Given the description of an element on the screen output the (x, y) to click on. 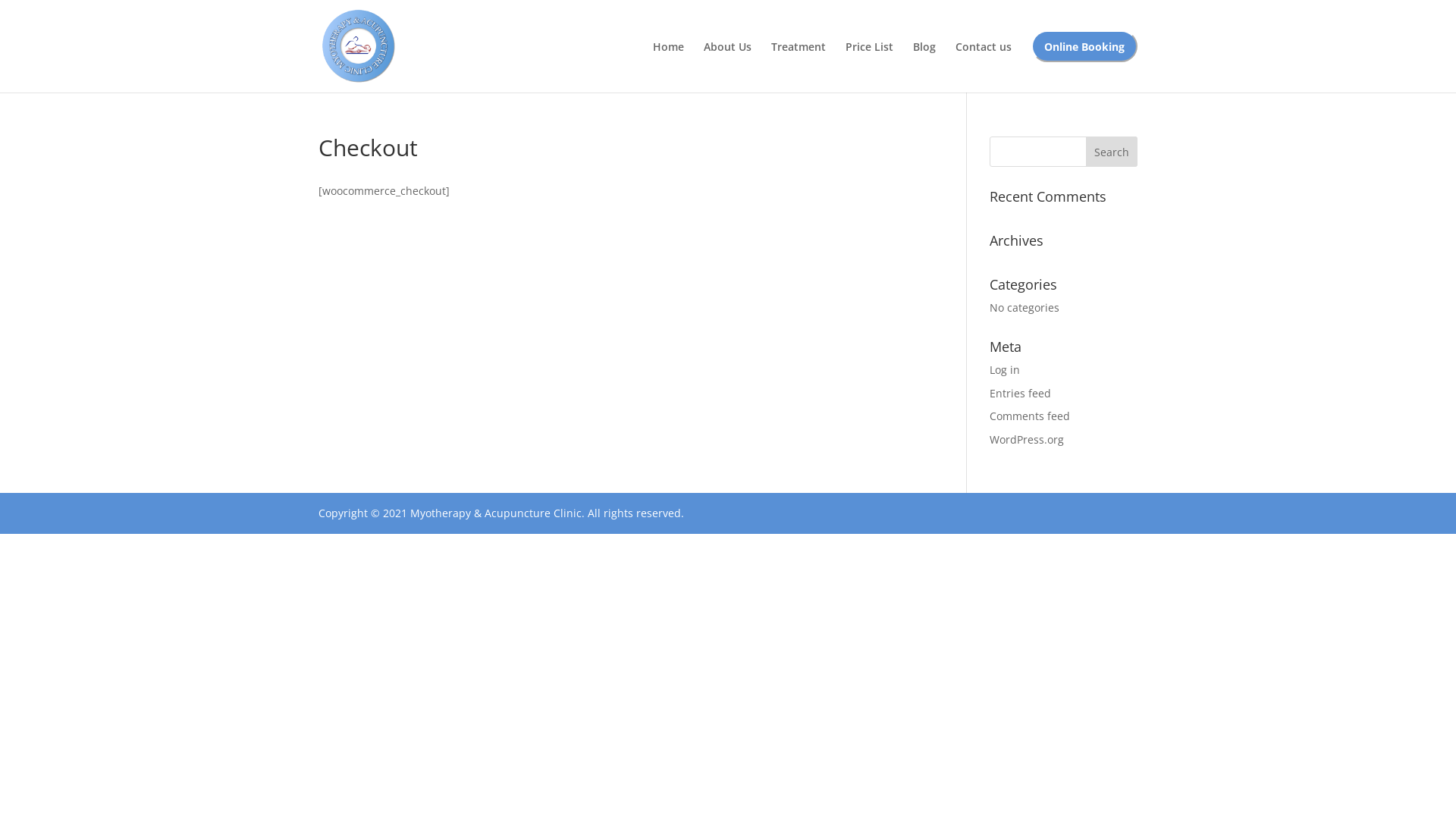
Entries feed Element type: text (1020, 392)
Treatment Element type: text (798, 60)
Online Booking Element type: text (1084, 61)
Home Element type: text (668, 60)
About Us Element type: text (727, 60)
Comments feed Element type: text (1029, 415)
Price List Element type: text (869, 60)
Search Element type: text (1111, 151)
WordPress.org Element type: text (1026, 439)
Blog Element type: text (924, 60)
Log in Element type: text (1004, 369)
Online Booking Element type: text (1084, 46)
Contact us Element type: text (983, 60)
